Given the description of an element on the screen output the (x, y) to click on. 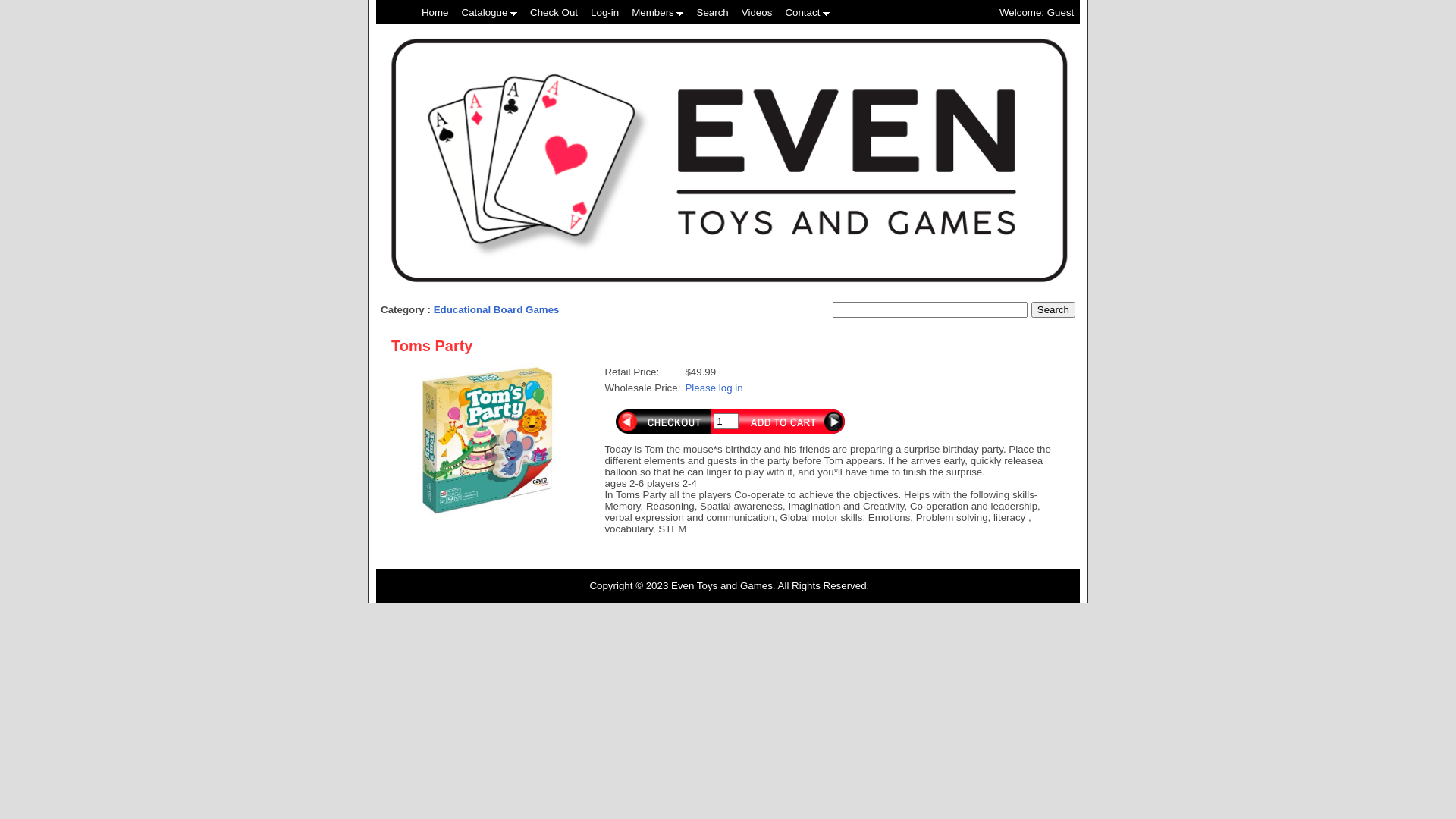
Videos Element type: text (757, 12)
Search Element type: text (1053, 309)
Members Element type: text (657, 12)
Catalogue Element type: text (489, 12)
Please log in Element type: text (713, 387)
Home Element type: text (435, 12)
Check Out Element type: text (553, 12)
Log-in Element type: text (604, 12)
Search Element type: text (712, 12)
Contact Element type: text (806, 12)
Educational Board Games Element type: text (496, 309)
